Given the description of an element on the screen output the (x, y) to click on. 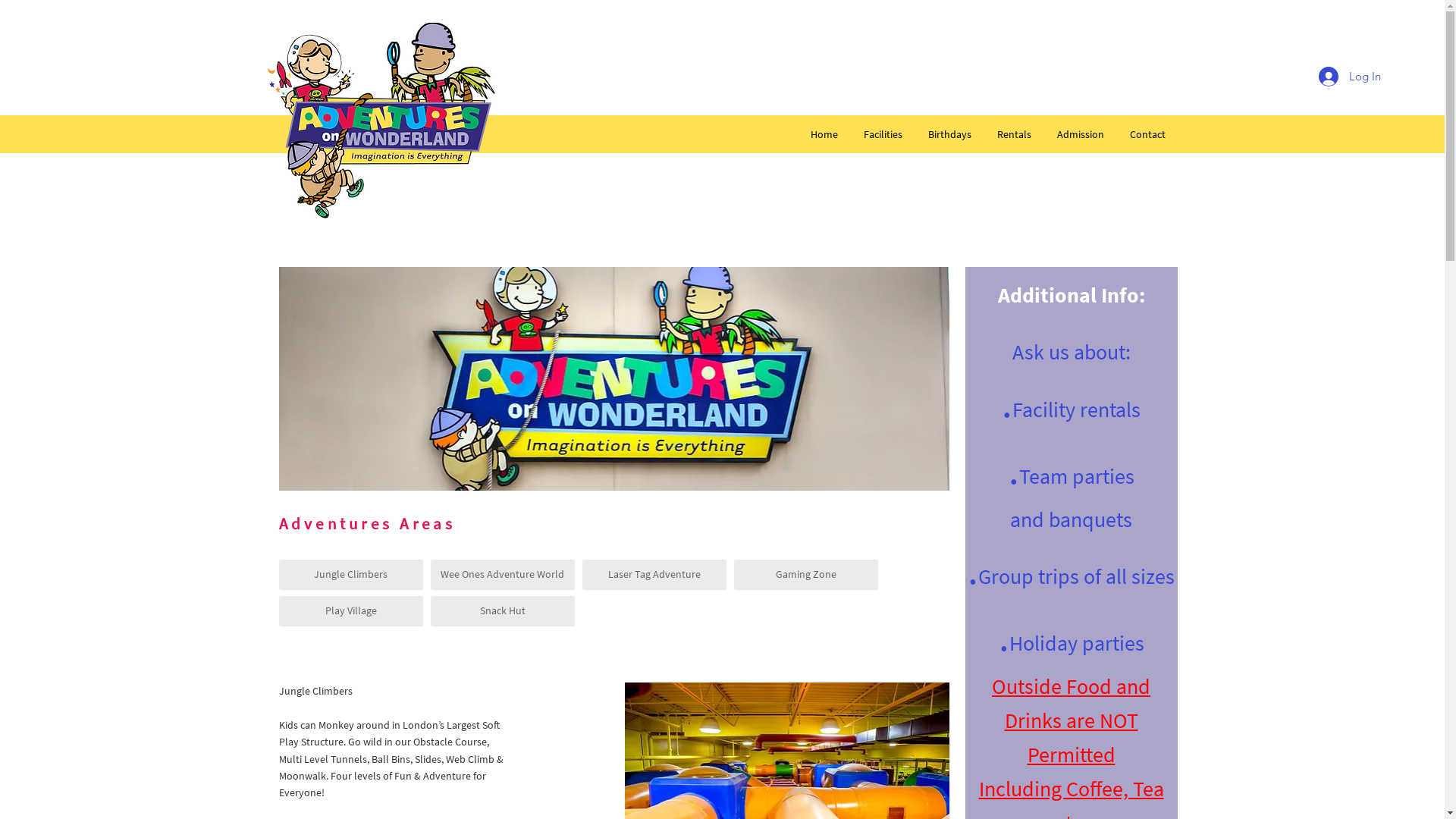
Wee Ones Adventure World Element type: text (502, 574)
Gaming Zone Element type: text (806, 574)
Admission Element type: text (1079, 134)
Laser Tag Adventure Element type: text (654, 574)
Home Element type: text (823, 134)
Log In Element type: text (1349, 76)
Jungle Climbers Element type: text (351, 574)
Facilities Element type: text (882, 134)
Birthdays Element type: text (948, 134)
Snack Hut Element type: text (502, 611)
Rentals Element type: text (1014, 134)
Play Village Element type: text (351, 611)
Contact Element type: text (1146, 134)
